Given the description of an element on the screen output the (x, y) to click on. 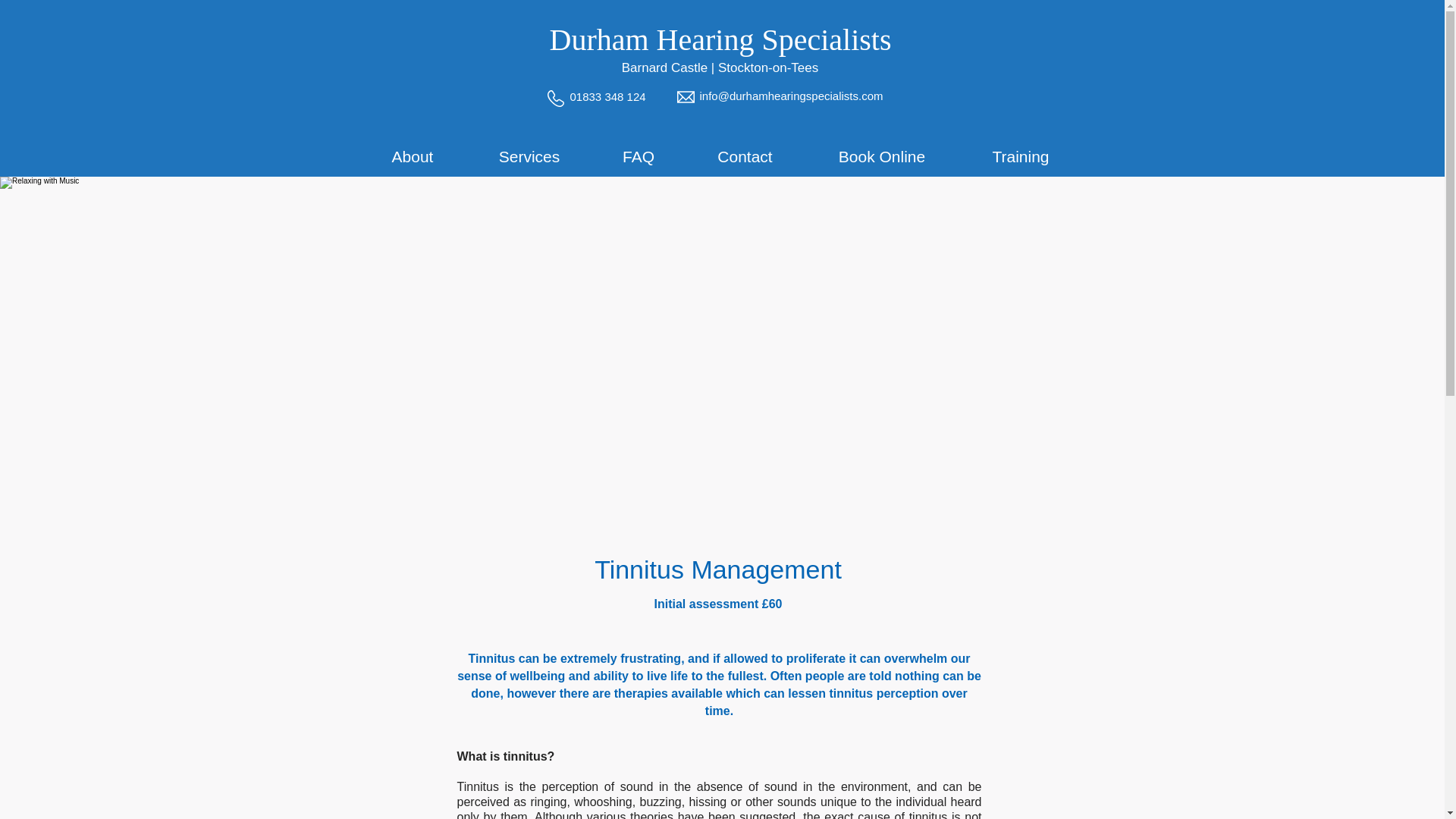
Durham Hearing Specialists (719, 39)
Training (1019, 156)
01833 348 124 (608, 96)
Contact (745, 156)
About (411, 156)
Book Online (882, 156)
Services (529, 156)
